Given the description of an element on the screen output the (x, y) to click on. 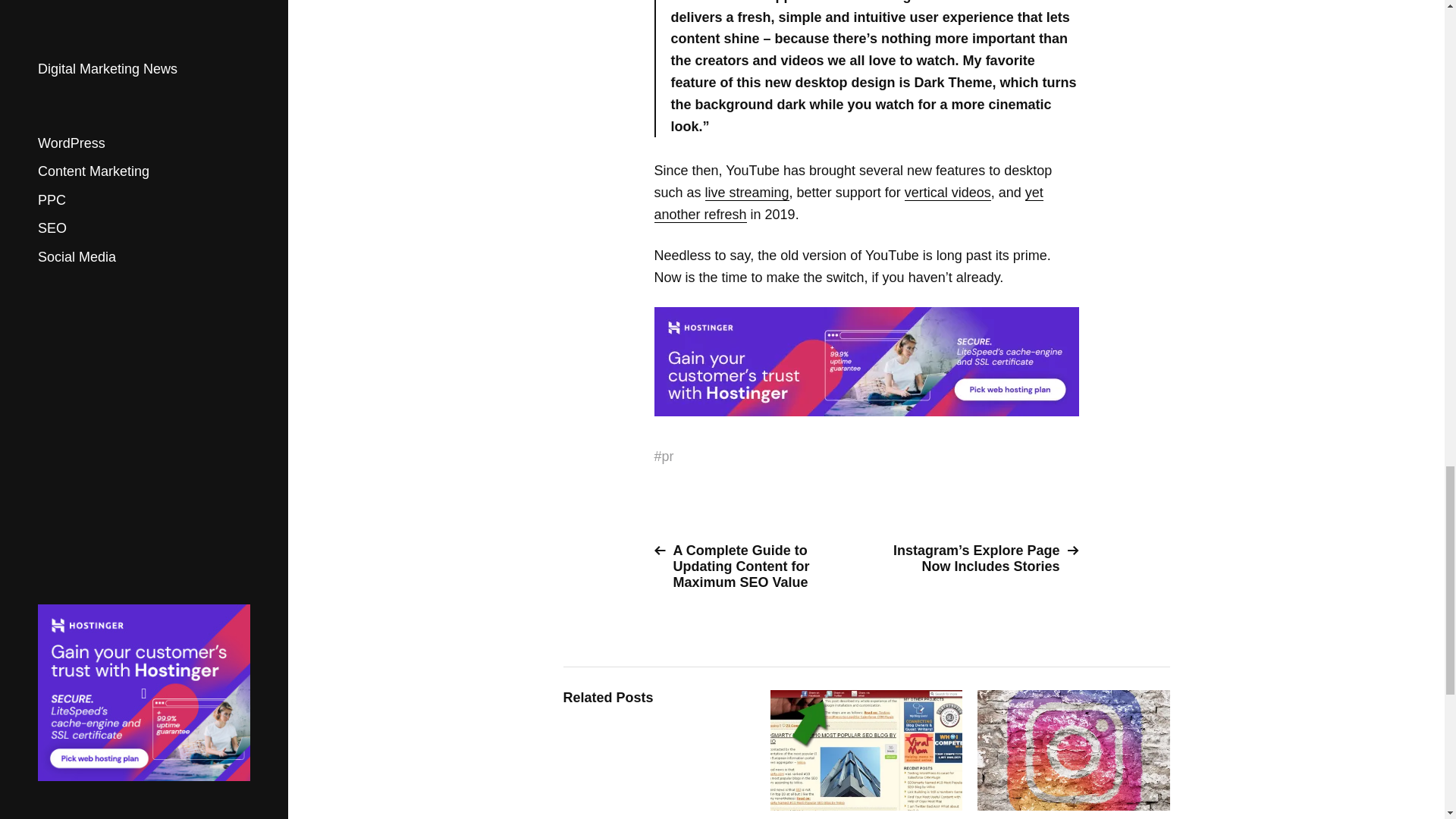
Create a Branded Social-Sharing Bar with Apture (866, 754)
vertical videos (947, 192)
A Complete Guide to Updating Content for Maximum SEO Value (753, 566)
yet another refresh (847, 203)
live streaming (746, 192)
